Given the description of an element on the screen output the (x, y) to click on. 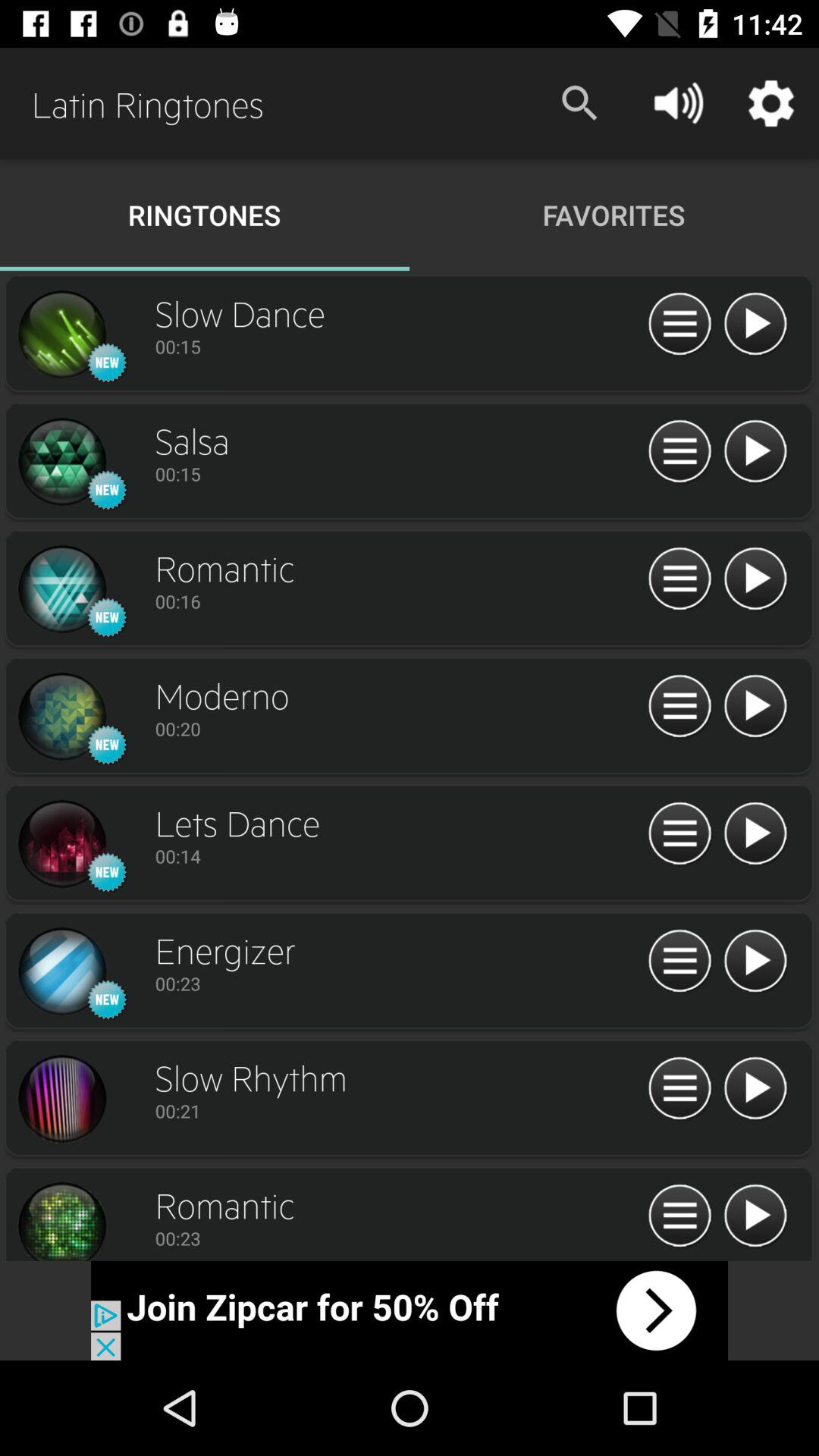
click the 2nd play button from the bottom right side of the web page (755, 1088)
click the button below the button slow dance on the web page (397, 346)
select the text above 0020 (397, 695)
select the image beside romantic (61, 1219)
select the text lets dance shown above 0014 (397, 822)
select the text which is above 0015 in second row (397, 439)
select the icon which is left side of the romantic (61, 589)
